Given the description of an element on the screen output the (x, y) to click on. 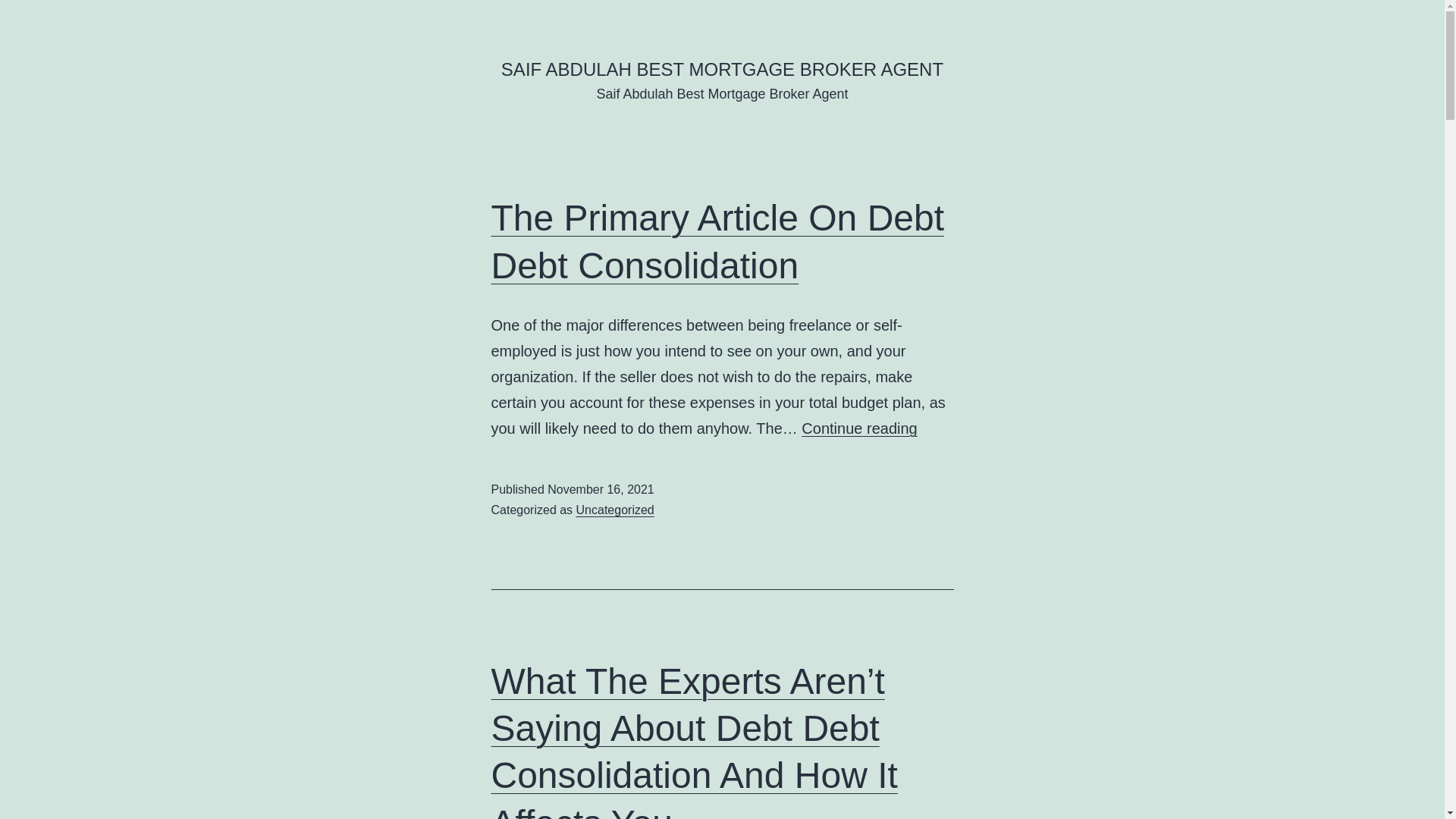
Uncategorized Element type: text (615, 509)
The Primary Article On Debt Debt Consolidation Element type: text (717, 241)
